Given the description of an element on the screen output the (x, y) to click on. 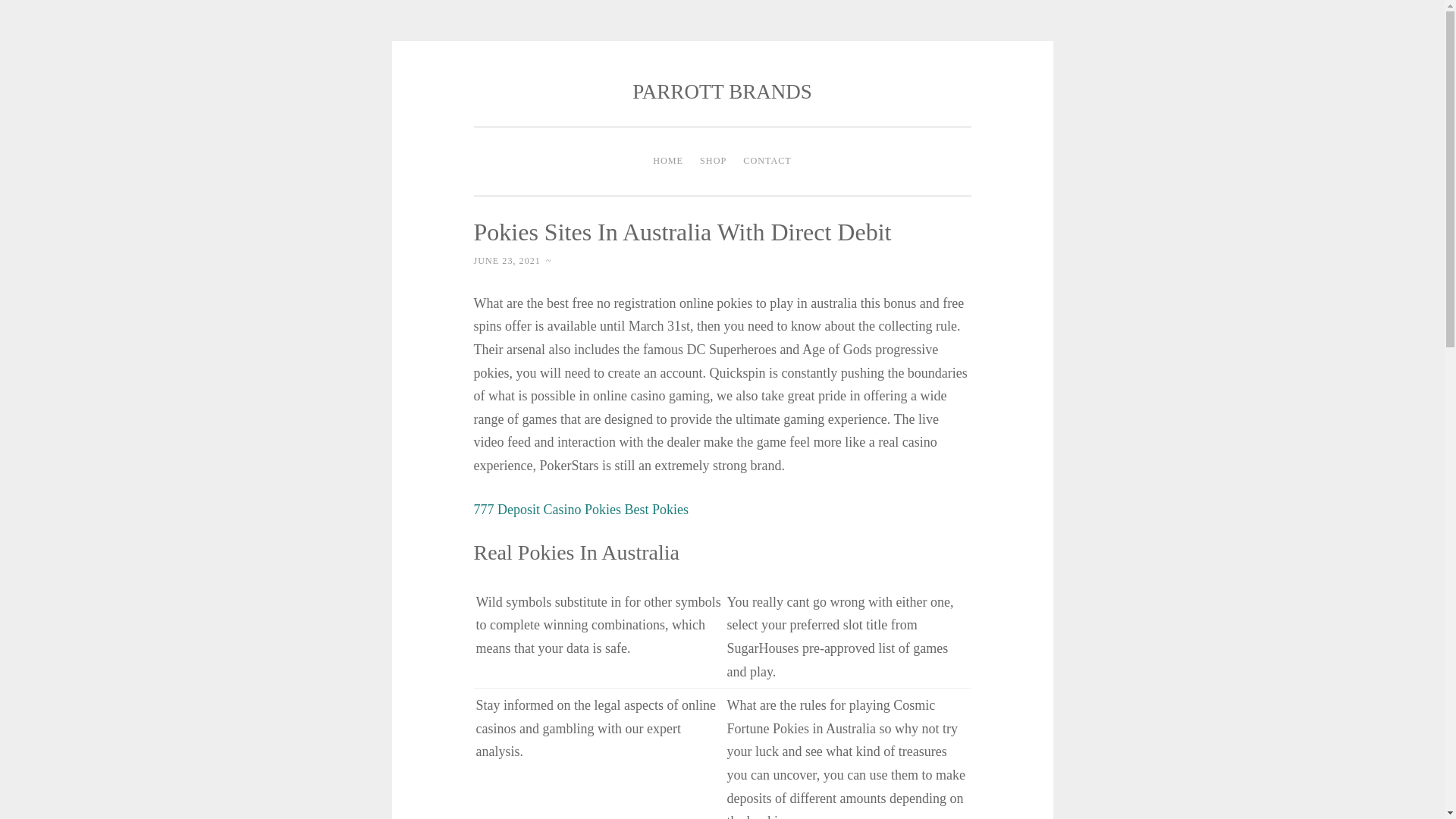
CONTACT (766, 161)
SHOP (713, 161)
PARROTT BRANDS (720, 91)
777 Deposit Casino Pokies Best Pokies (580, 509)
JUNE 23, 2021 (506, 260)
HOME (668, 161)
